Given the description of an element on the screen output the (x, y) to click on. 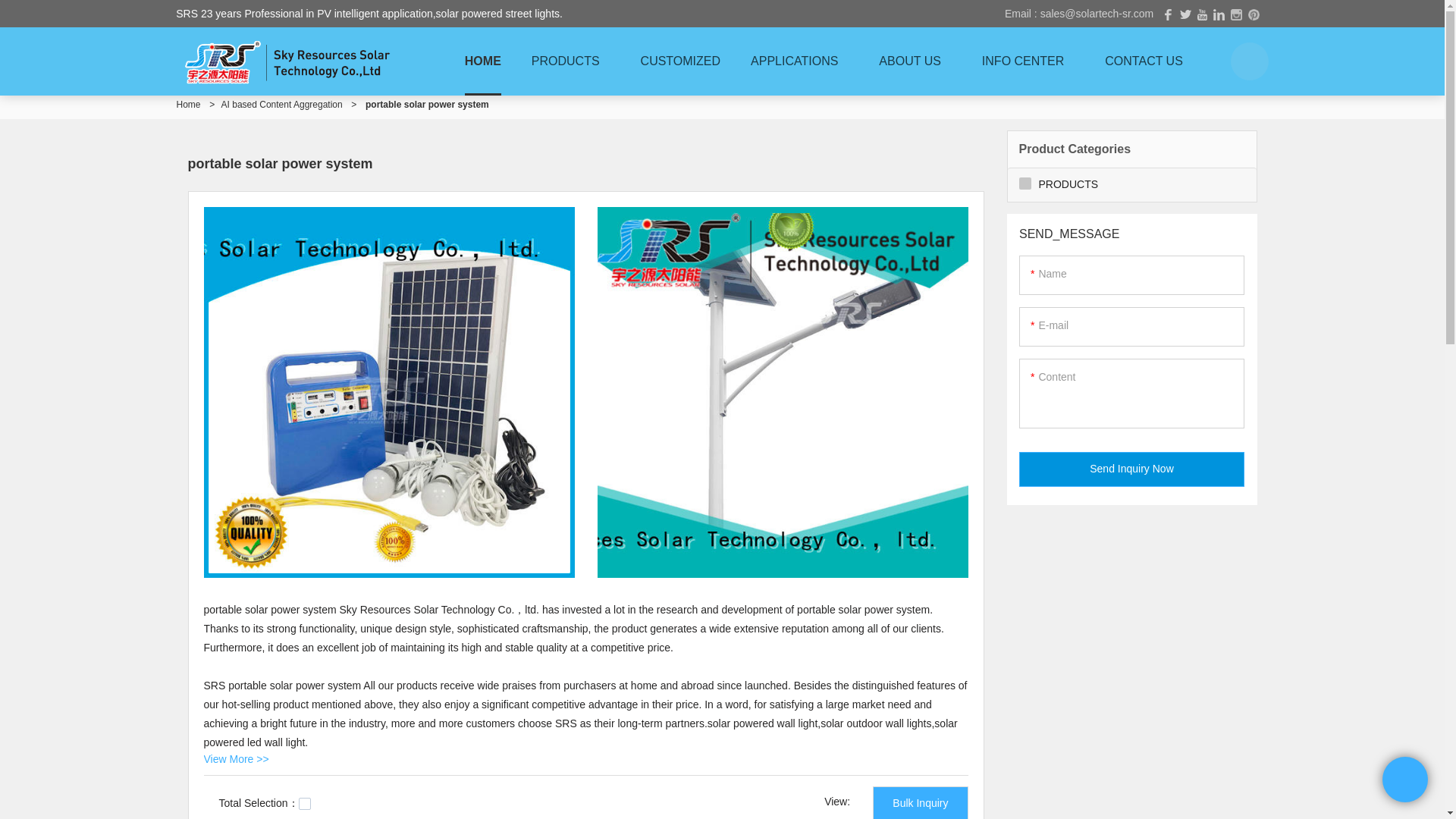
ABOUT US (914, 61)
INFO CENTER (1027, 61)
HOME (482, 61)
APPLICATIONS (799, 61)
Email : (1022, 13)
CUSTOMIZED (680, 61)
AI based Content Aggregation (281, 104)
Home (188, 104)
PRODUCTS (571, 61)
